Given the description of an element on the screen output the (x, y) to click on. 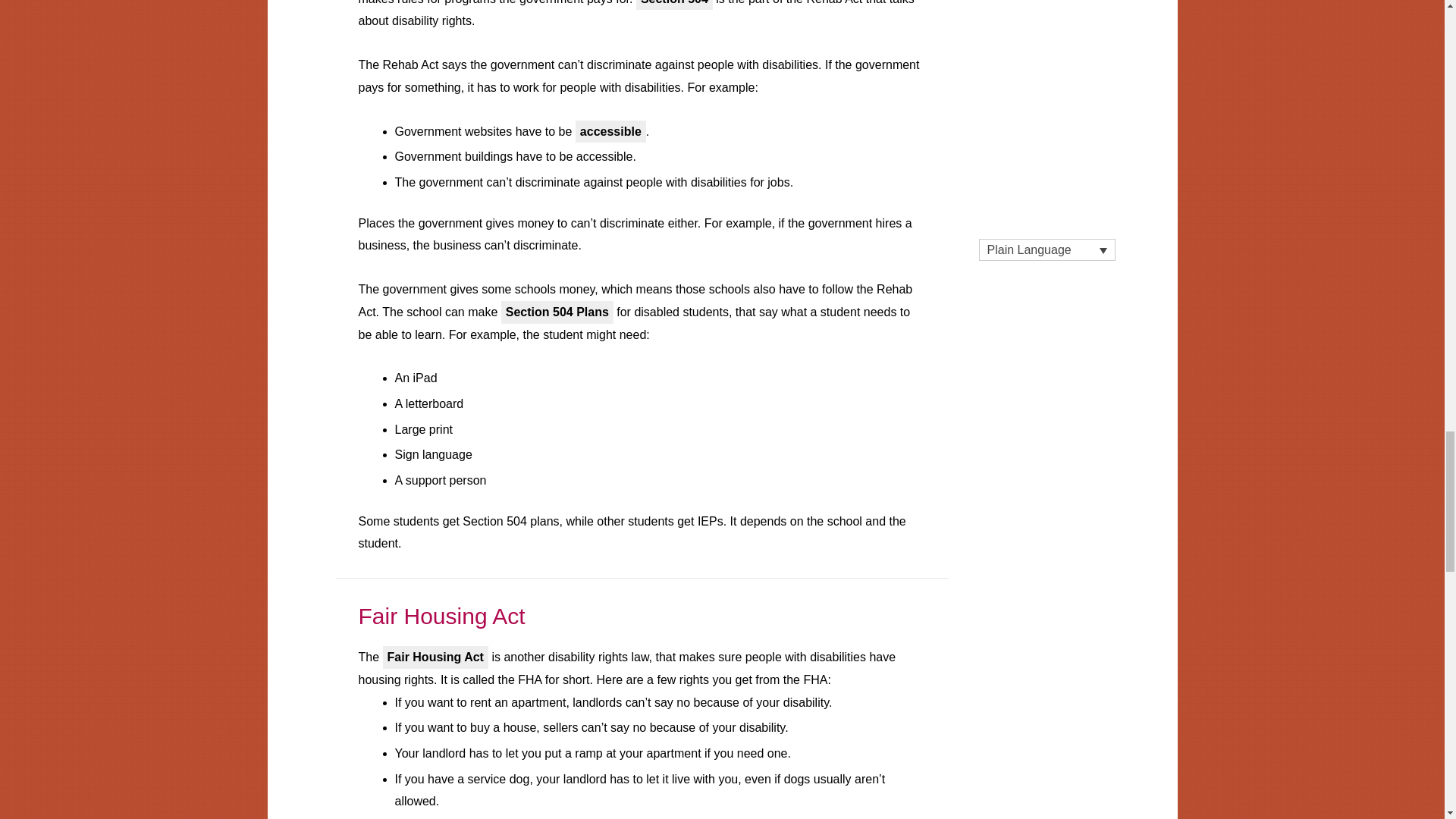
Fair Housing Act (441, 615)
Fair Housing Act (441, 615)
